Given the description of an element on the screen output the (x, y) to click on. 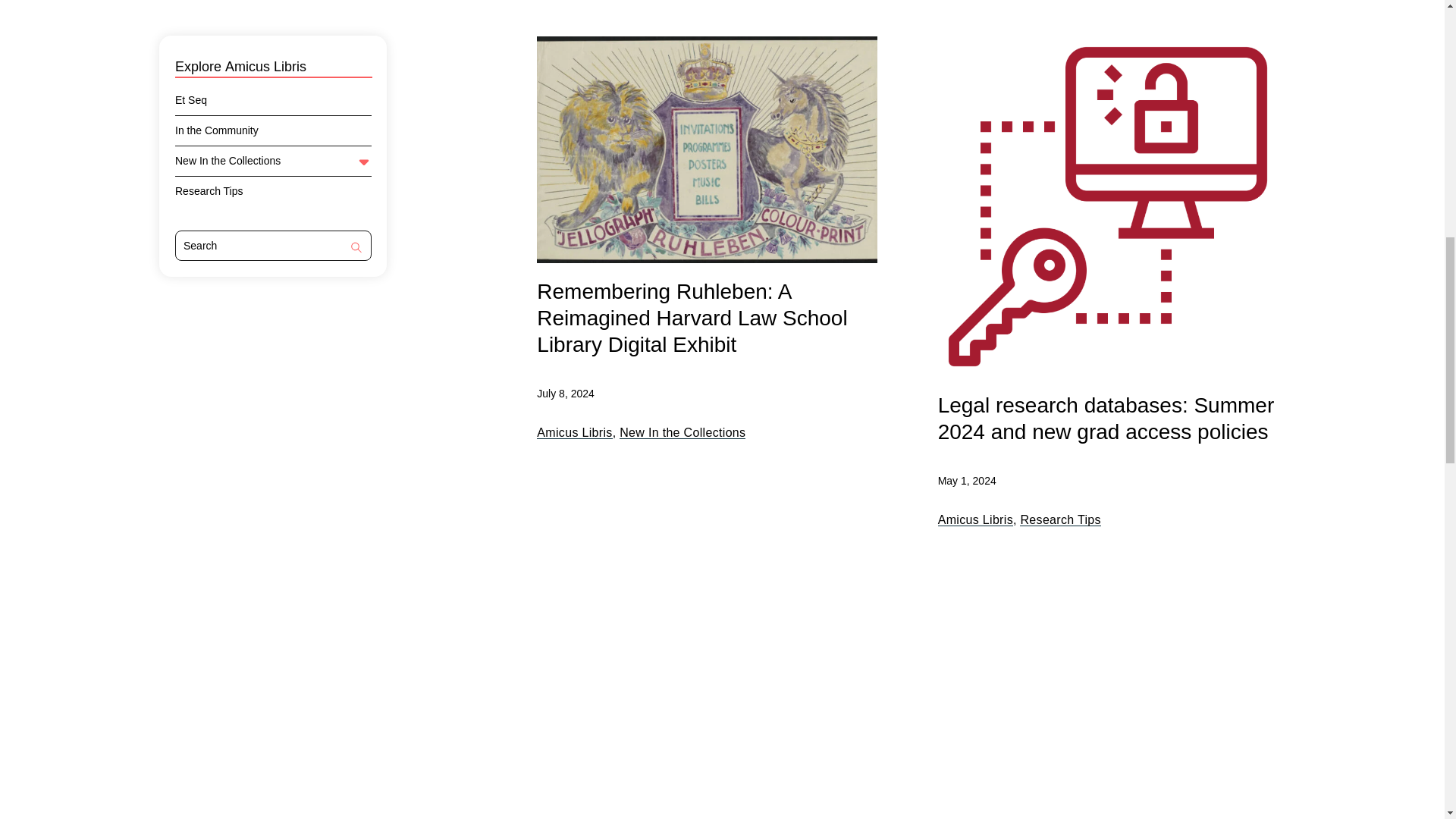
Search (356, 248)
